Given the description of an element on the screen output the (x, y) to click on. 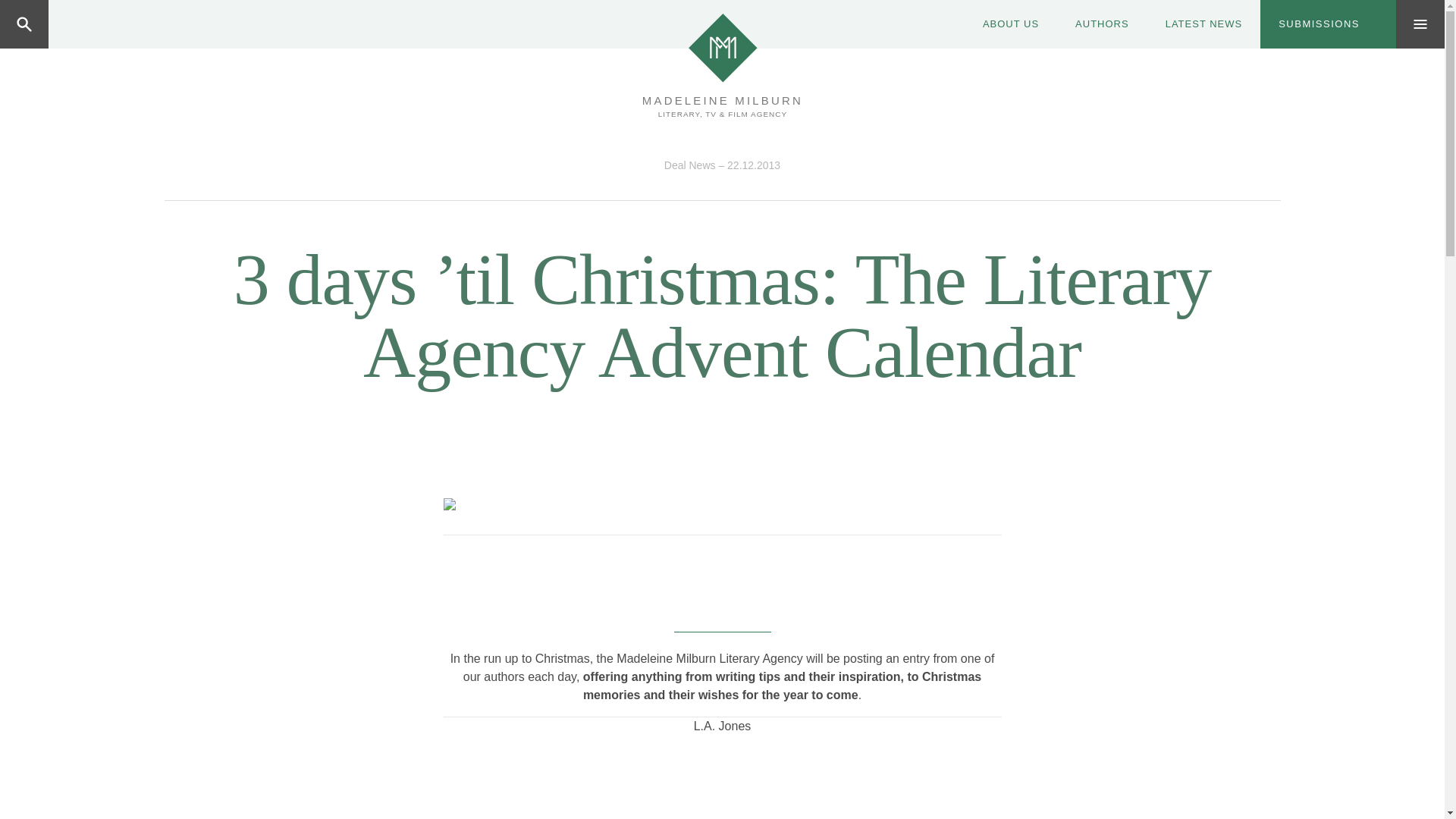
LATEST NEWS (1203, 24)
AUTHORS (1102, 24)
ABOUT US (1010, 24)
L.A. Jones (721, 783)
SUBMISSIONS (1328, 24)
Search (84, 24)
